Given the description of an element on the screen output the (x, y) to click on. 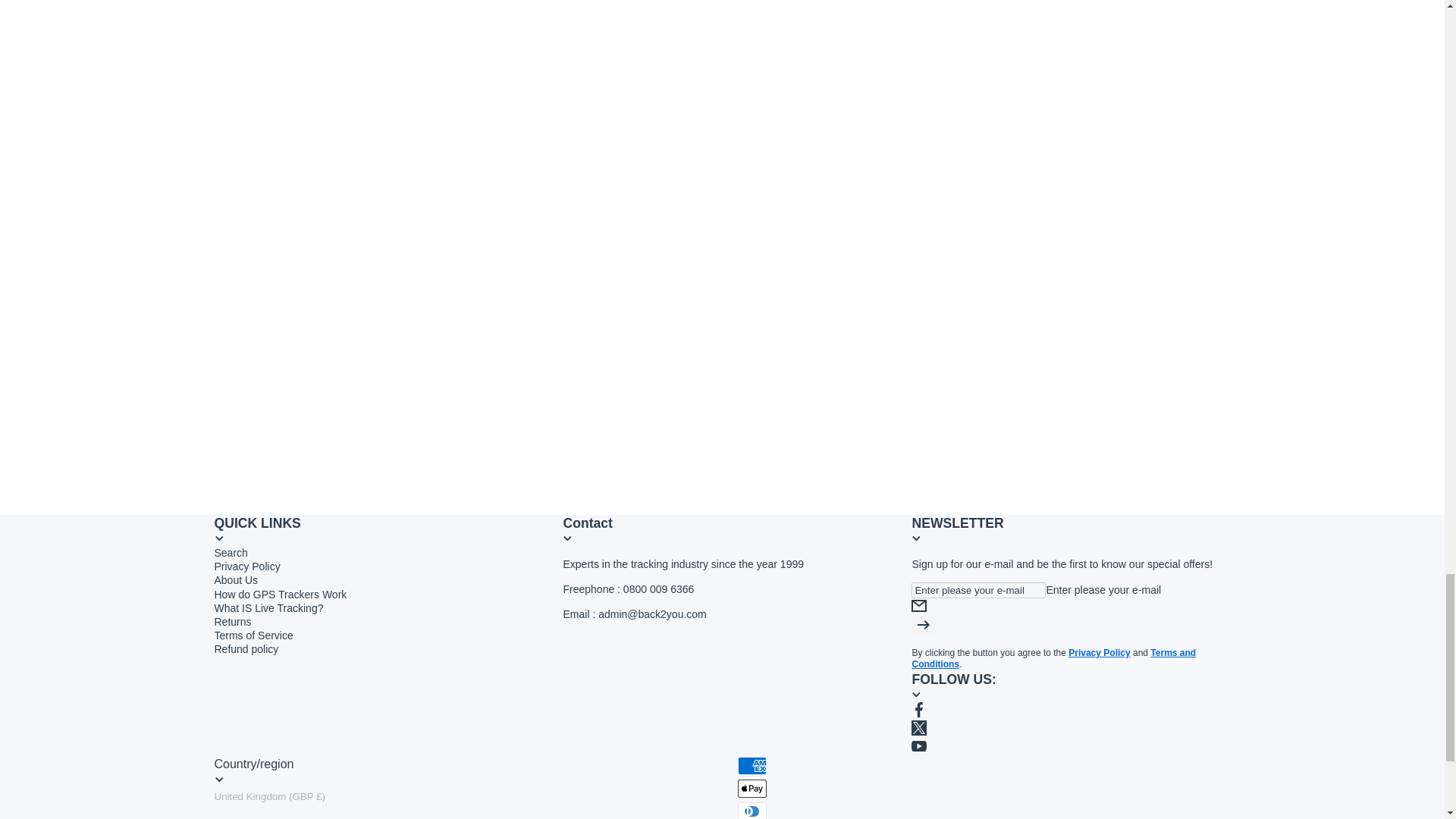
Diners Club (750, 810)
Apple Pay (750, 788)
American Express (750, 765)
